Given the description of an element on the screen output the (x, y) to click on. 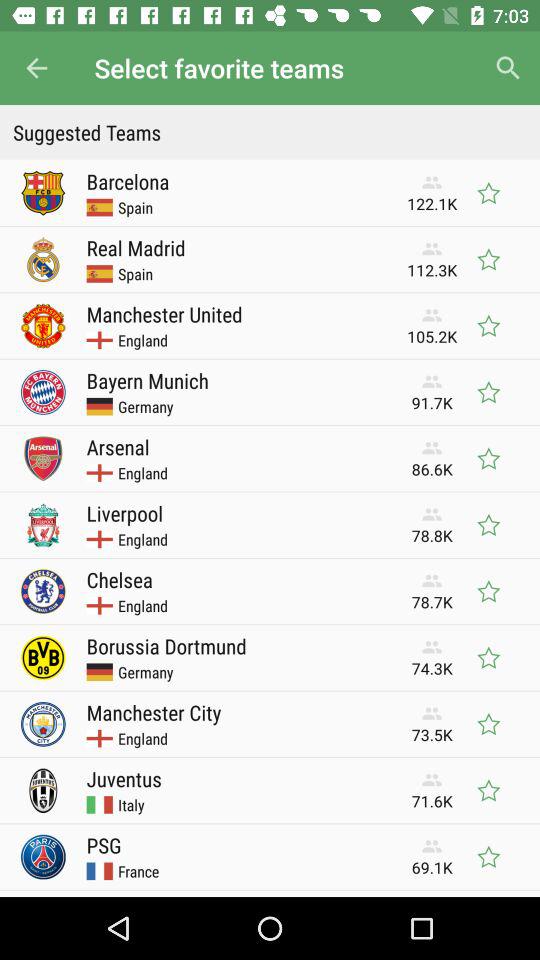
scroll until bayern munich item (147, 380)
